Given the description of an element on the screen output the (x, y) to click on. 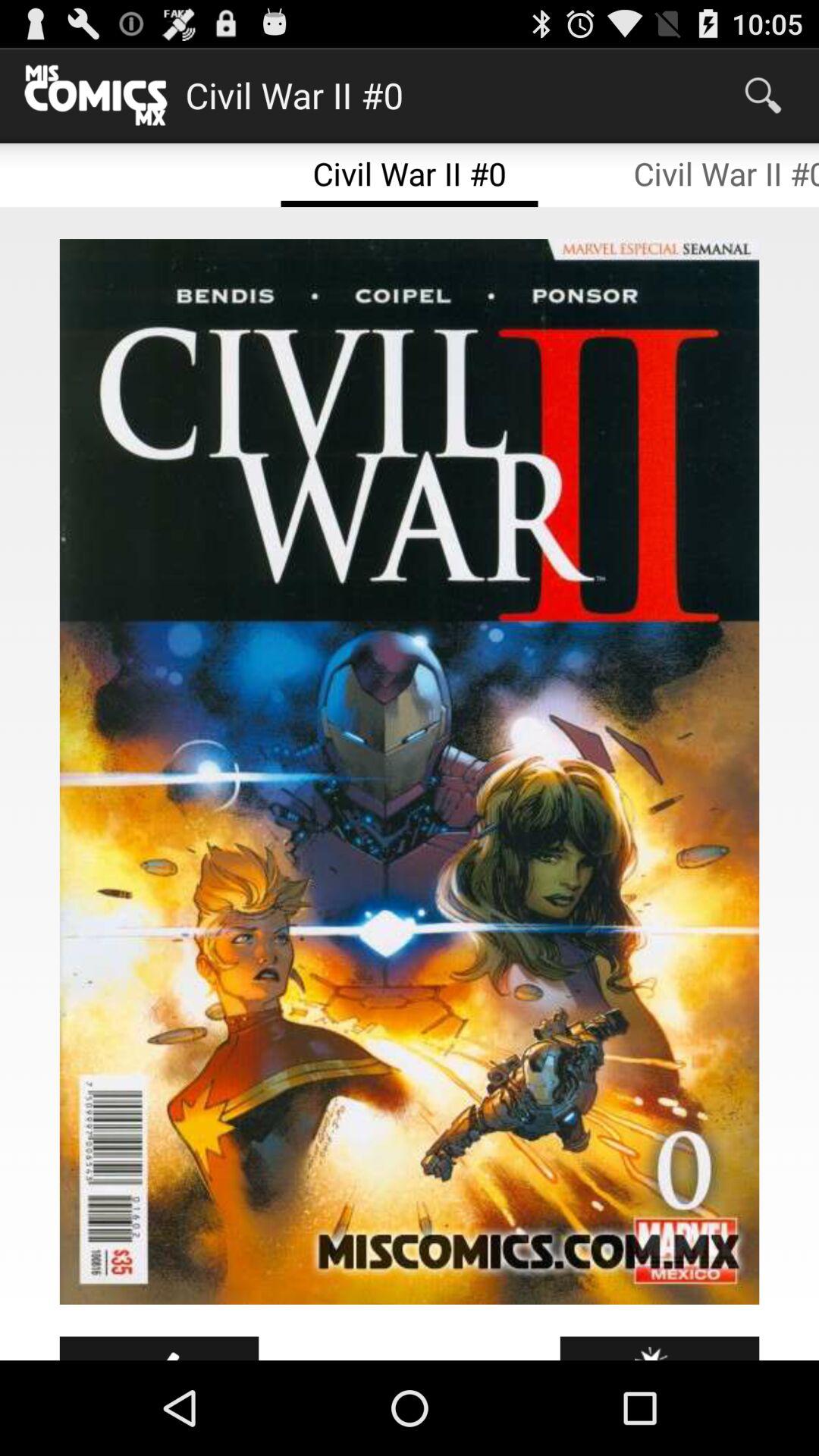
turn on the icon below civil war ii item (409, 771)
